Given the description of an element on the screen output the (x, y) to click on. 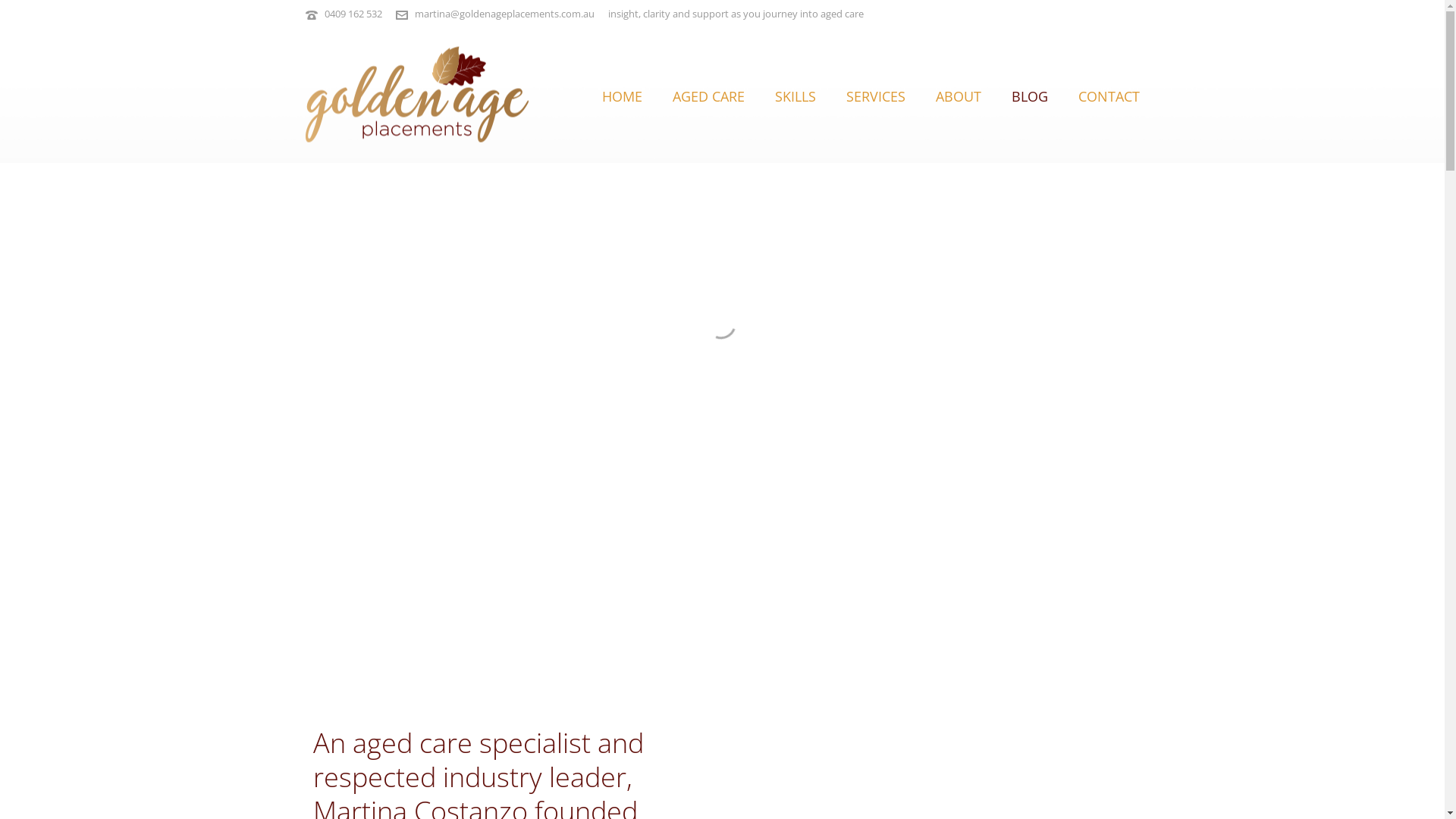
AGED CARE Element type: text (707, 94)
BLOG Element type: text (1029, 94)
insight, clarity and support as you journey into aged care Element type: hover (415, 95)
martina@goldenageplacements.com.au Element type: text (503, 13)
CONTACT Element type: text (1108, 94)
SKILLS Element type: text (795, 94)
HOME Element type: text (621, 94)
SERVICES Element type: text (875, 94)
ABOUT Element type: text (958, 94)
0409 162 532 Element type: text (353, 13)
